Given the description of an element on the screen output the (x, y) to click on. 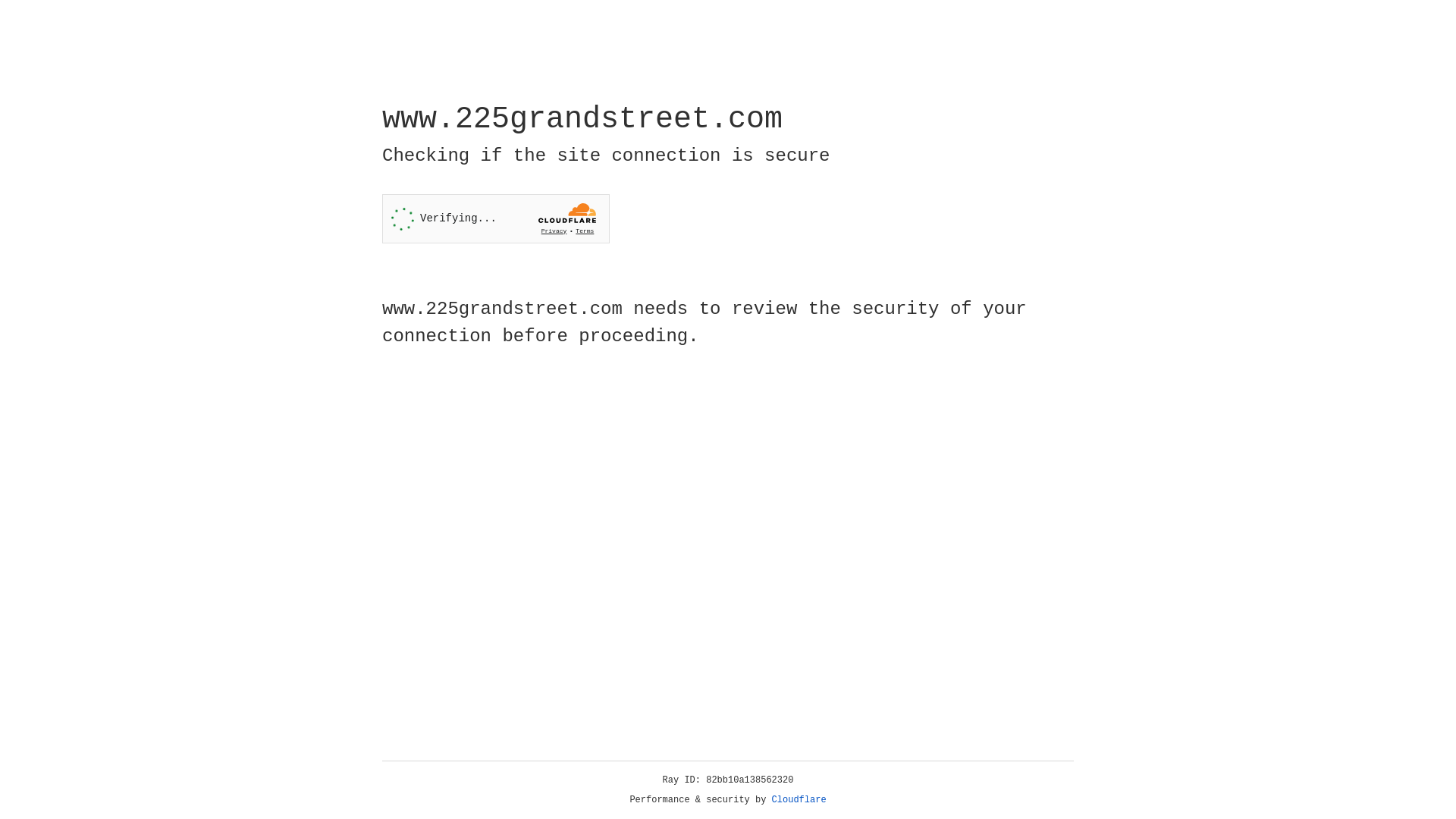
Cloudflare Element type: text (798, 799)
Widget containing a Cloudflare security challenge Element type: hover (495, 218)
